Given the description of an element on the screen output the (x, y) to click on. 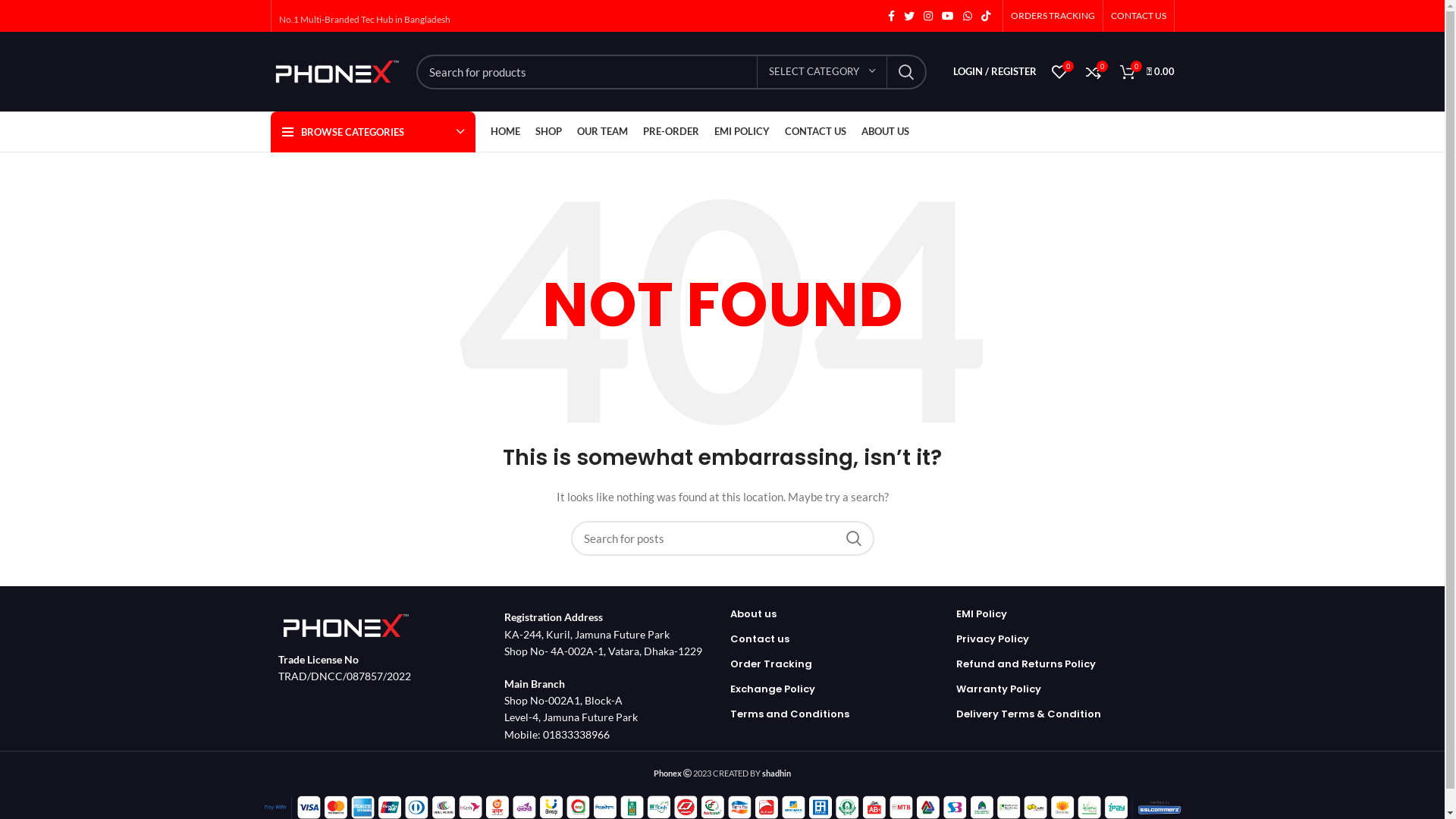
CONTACT US Element type: text (1137, 15)
Privacy Policy Element type: text (991, 638)
Delivery Terms & Condition Element type: text (1027, 713)
Exchange Policy Element type: text (771, 688)
shadhin Element type: text (776, 773)
EMI Policy Element type: text (980, 613)
0 Element type: text (1058, 71)
SEARCH Element type: text (853, 537)
OUR TEAM Element type: text (601, 131)
PRE-ORDER Element type: text (670, 131)
Refund and Returns Policy Element type: text (1025, 663)
About us Element type: text (752, 613)
EMI POLICY Element type: text (741, 131)
LOGIN / REGISTER Element type: text (993, 71)
Contact us Element type: text (758, 638)
SEARCH Element type: text (906, 71)
CONTACT US Element type: text (814, 131)
Terms and Conditions Element type: text (788, 713)
SELECT CATEGORY Element type: text (821, 71)
HOME Element type: text (504, 131)
ABOUT US Element type: text (884, 131)
ORDERS TRACKING Element type: text (1051, 15)
Phonex Element type: text (667, 773)
Search for posts Element type: hover (721, 537)
Search for products Element type: hover (670, 71)
Order Tracking Element type: text (770, 663)
Warranty Policy Element type: text (997, 688)
0 Element type: text (1093, 71)
SHOP Element type: text (548, 131)
